Given the description of an element on the screen output the (x, y) to click on. 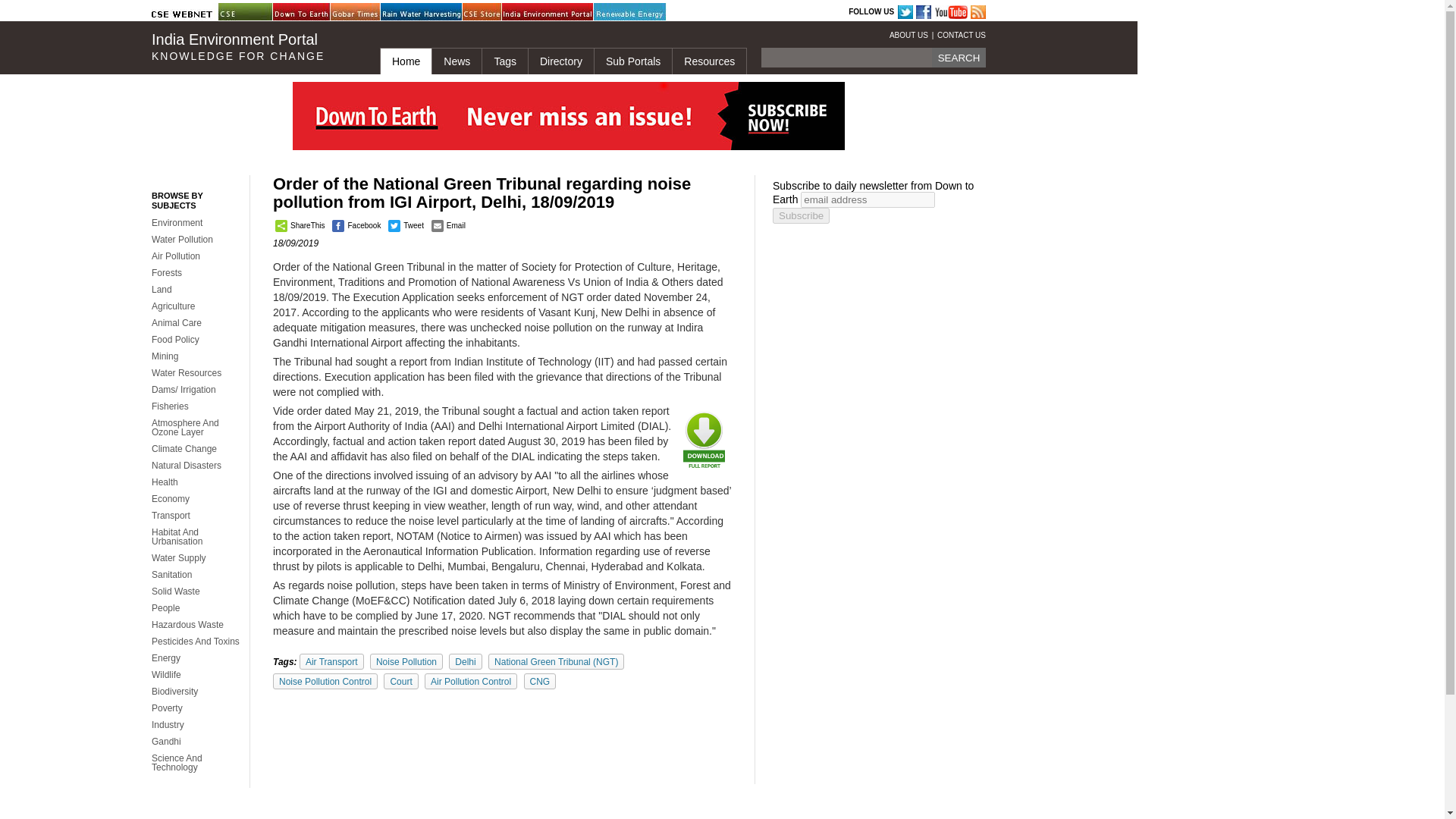
Subscribe (801, 215)
Directory (560, 60)
Rain Water Harvesting (418, 11)
Gobar Times (368, 11)
Renewable Energy (631, 11)
Sub Portals (632, 60)
CSE (256, 11)
Resources (708, 60)
India Environment Portal (540, 11)
India Environment Portal KNOWLEDGE FOR CHANGE (253, 46)
News (455, 60)
Tags (504, 60)
Home (405, 60)
Down to Earth (311, 11)
CSE Store (500, 11)
